Given the description of an element on the screen output the (x, y) to click on. 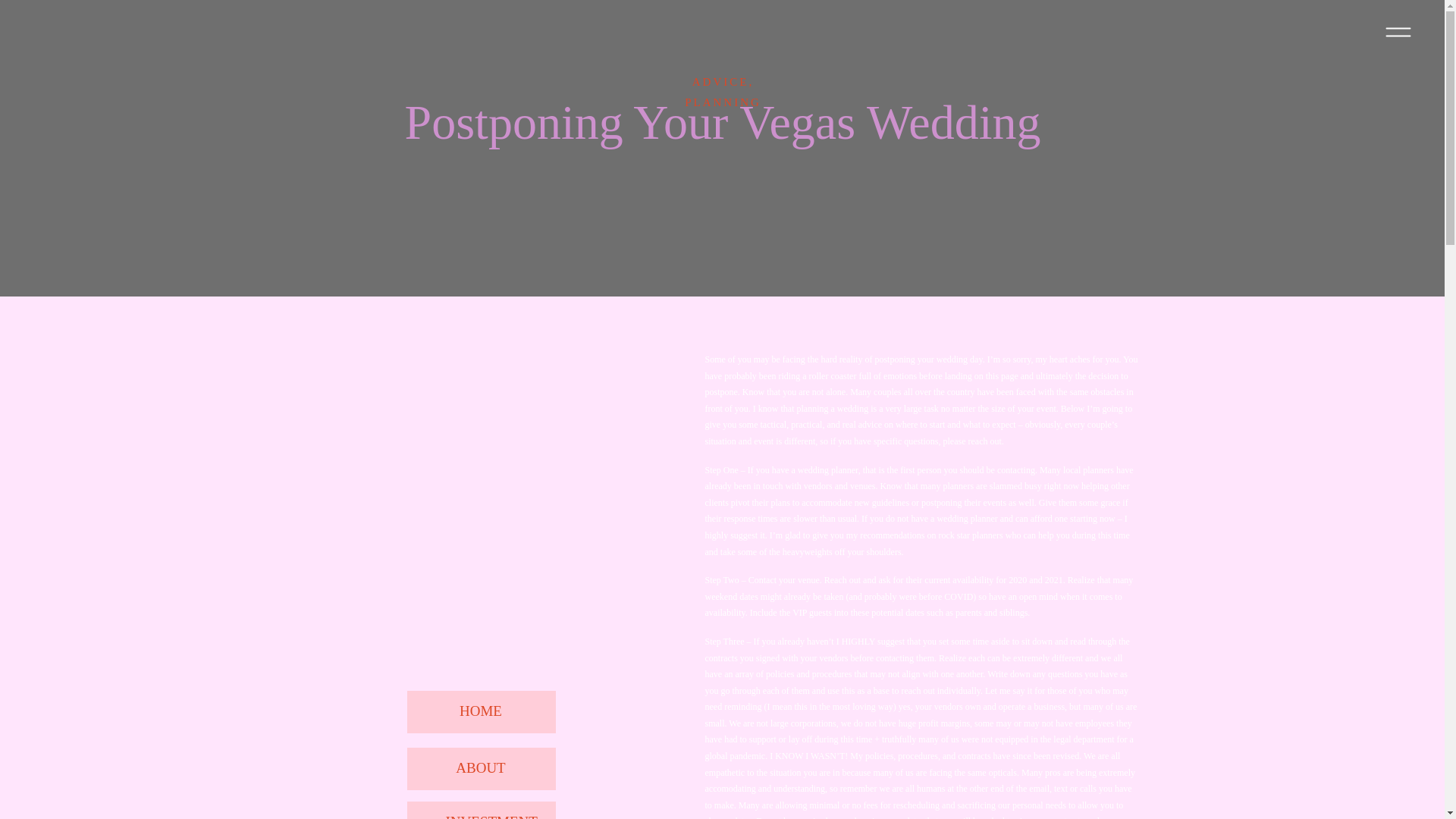
ABOUT US (480, 768)
ADVICE (721, 81)
HOME (480, 712)
INVESTMENT (480, 810)
PLANNING (722, 102)
